Given the description of an element on the screen output the (x, y) to click on. 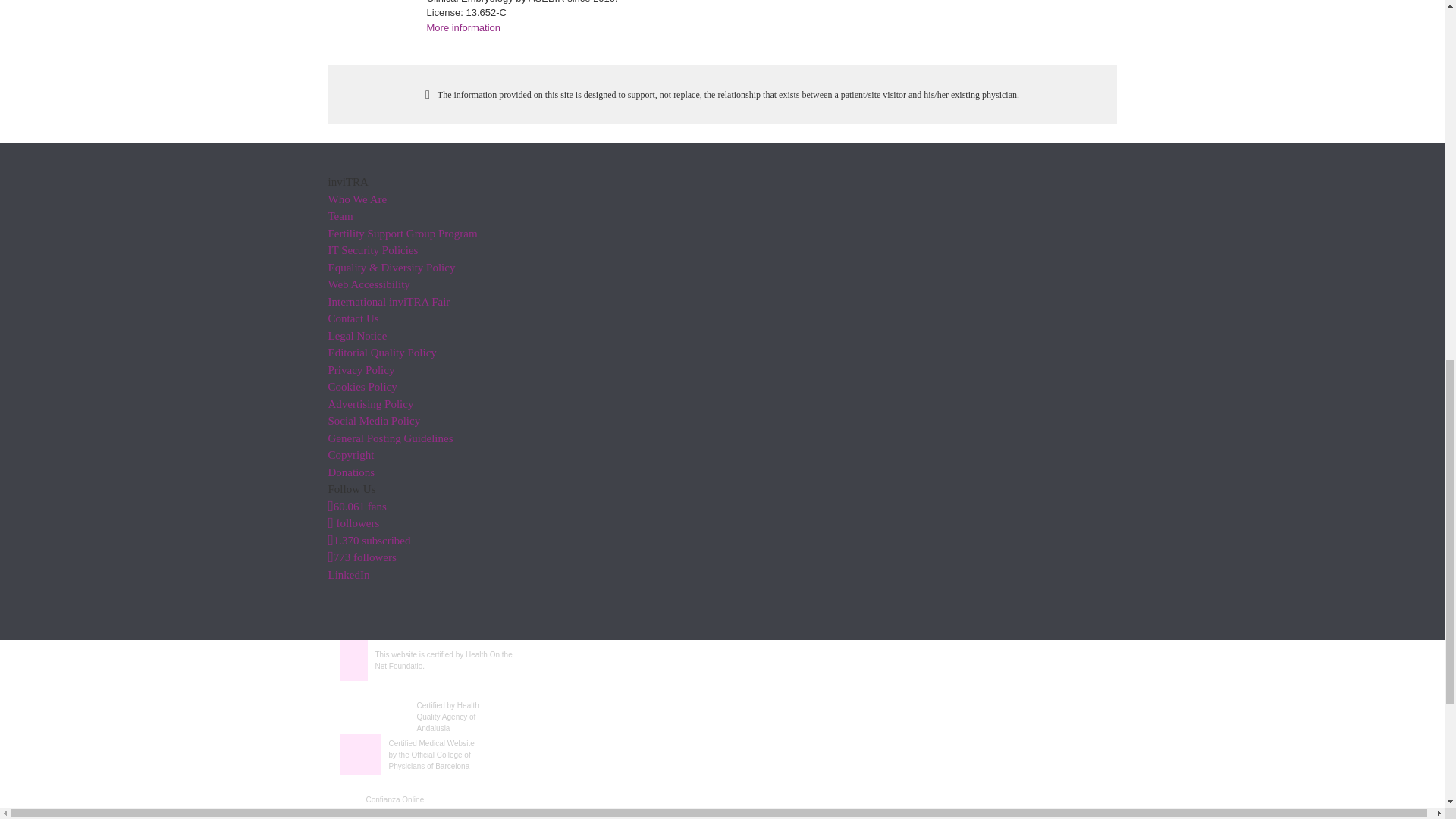
Twitter (352, 522)
Facebook (356, 506)
Instagram (361, 557)
LinkedIn  (348, 574)
Youtube (368, 539)
